Given the description of an element on the screen output the (x, y) to click on. 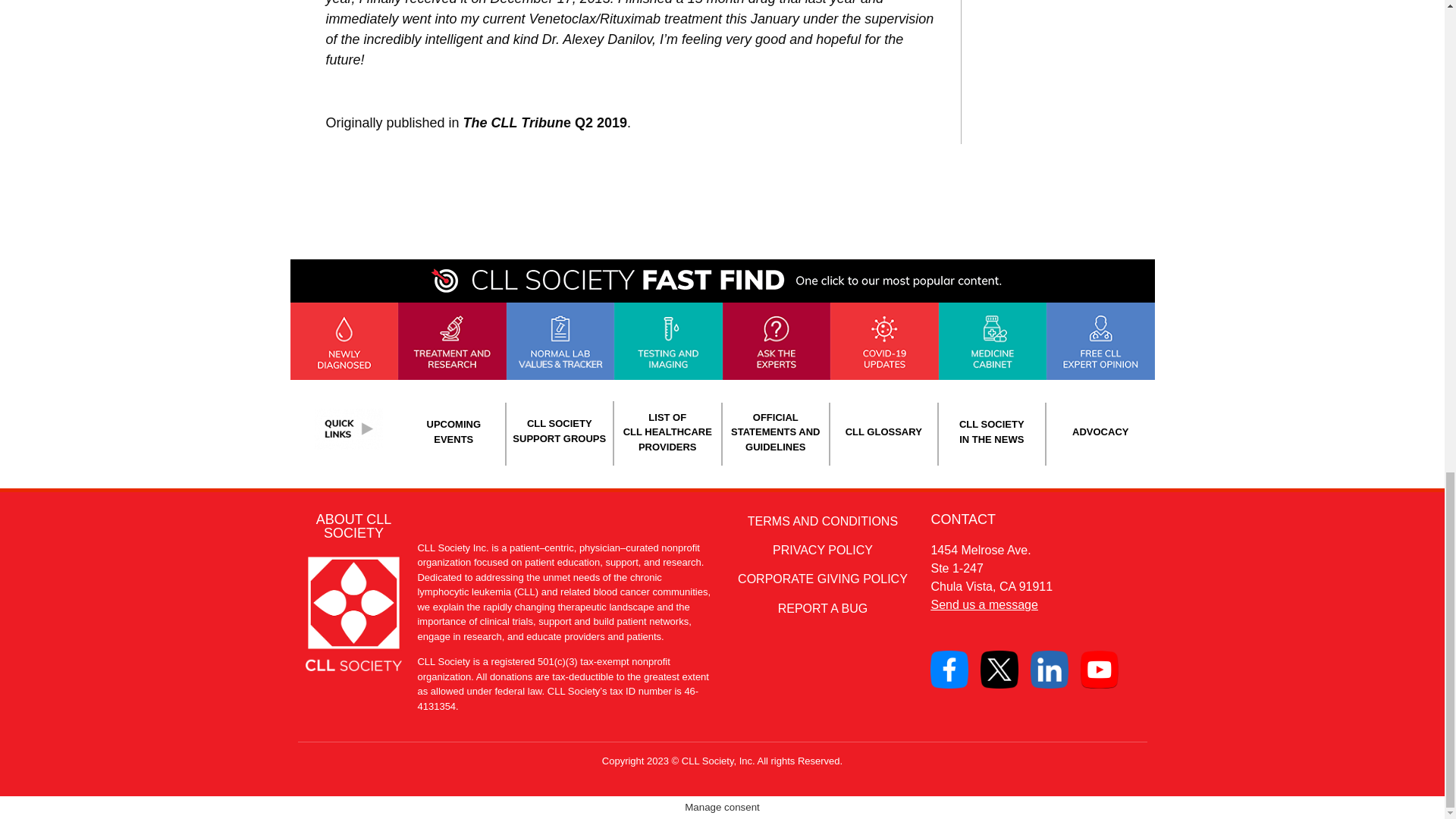
xFINAL Treatment And Research 107 (451, 341)
quicklinks (348, 428)
xFINAL Free CLL Expwert Opinion 107 (1100, 341)
